Given the description of an element on the screen output the (x, y) to click on. 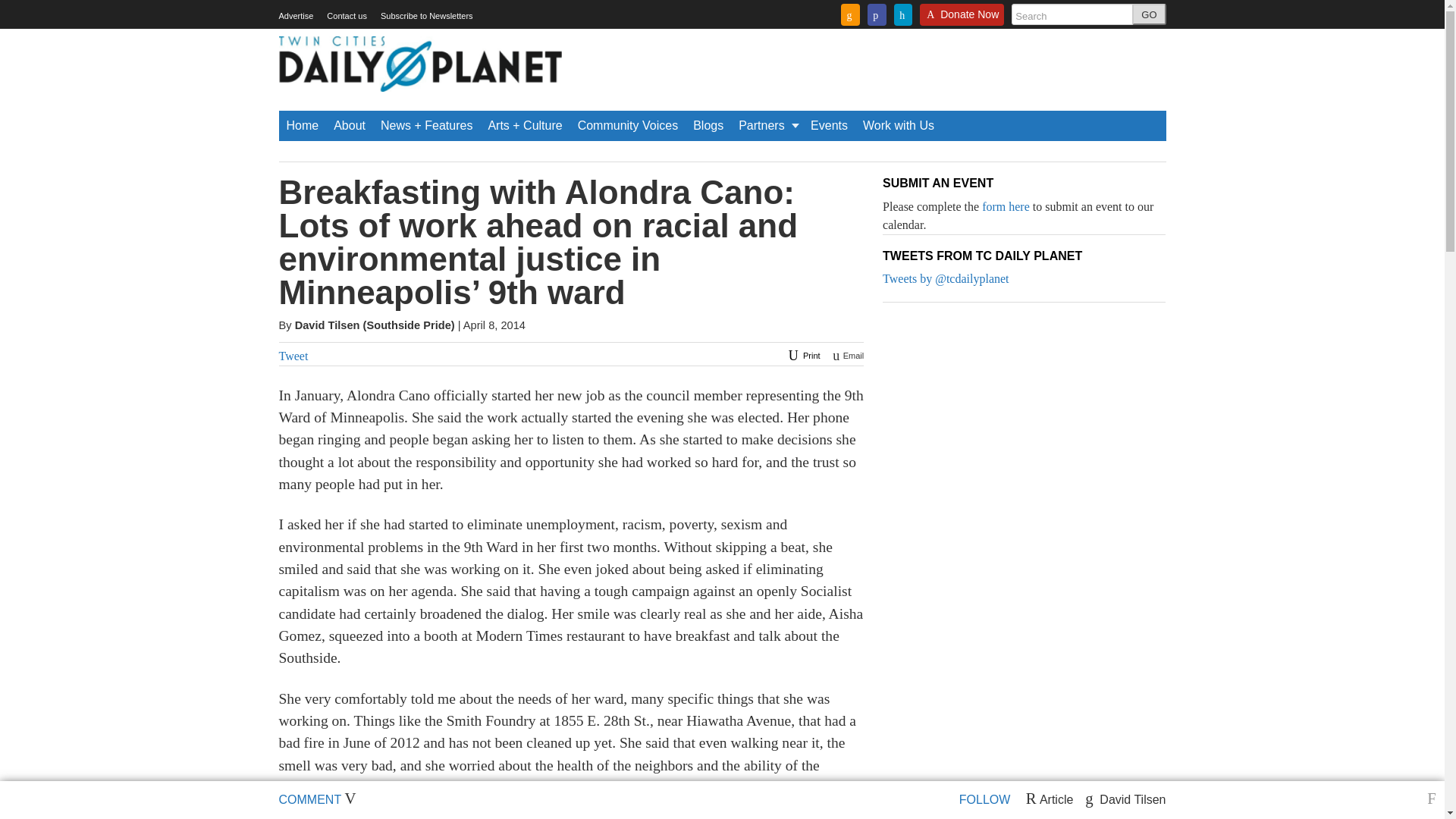
Work with Us (899, 125)
Donate Now (962, 19)
Print (801, 355)
Subscribe to Newsletters (426, 15)
Read Posts in the Article category (1049, 799)
form here (1005, 205)
Blogs (707, 125)
Tweet (293, 355)
Partners (766, 125)
Community Voices (627, 125)
Events (829, 125)
About (349, 125)
Advertise (296, 15)
Contact us (346, 15)
Print this article (801, 355)
